Given the description of an element on the screen output the (x, y) to click on. 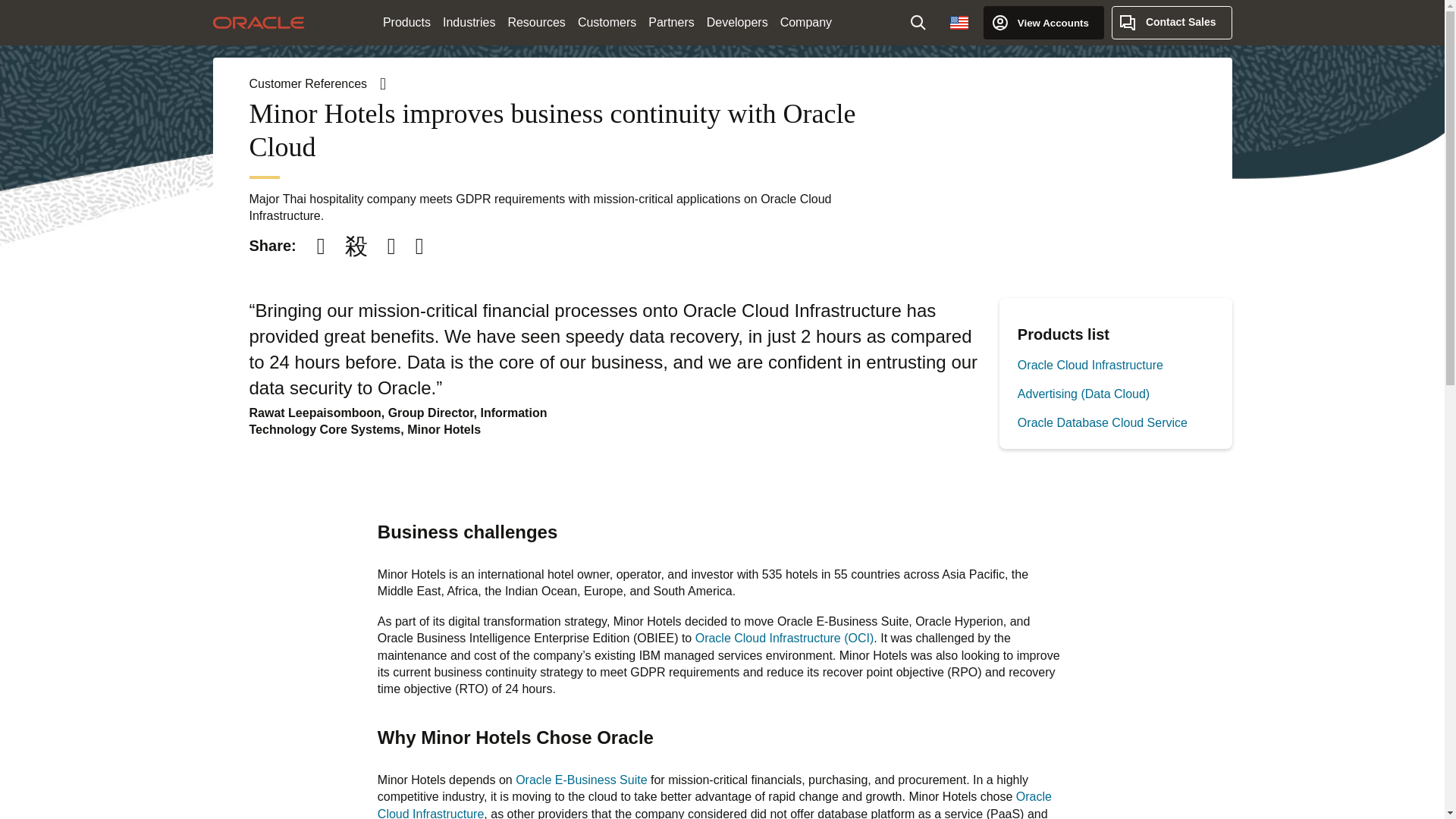
Country (958, 22)
View Accounts (1043, 22)
Developers (737, 22)
Resources (535, 22)
Customers (607, 22)
Share on Twitter (355, 246)
Oracle Cloud Infrastructure (1090, 364)
Customer References (316, 83)
Partners (671, 22)
Industries (468, 22)
